Given the description of an element on the screen output the (x, y) to click on. 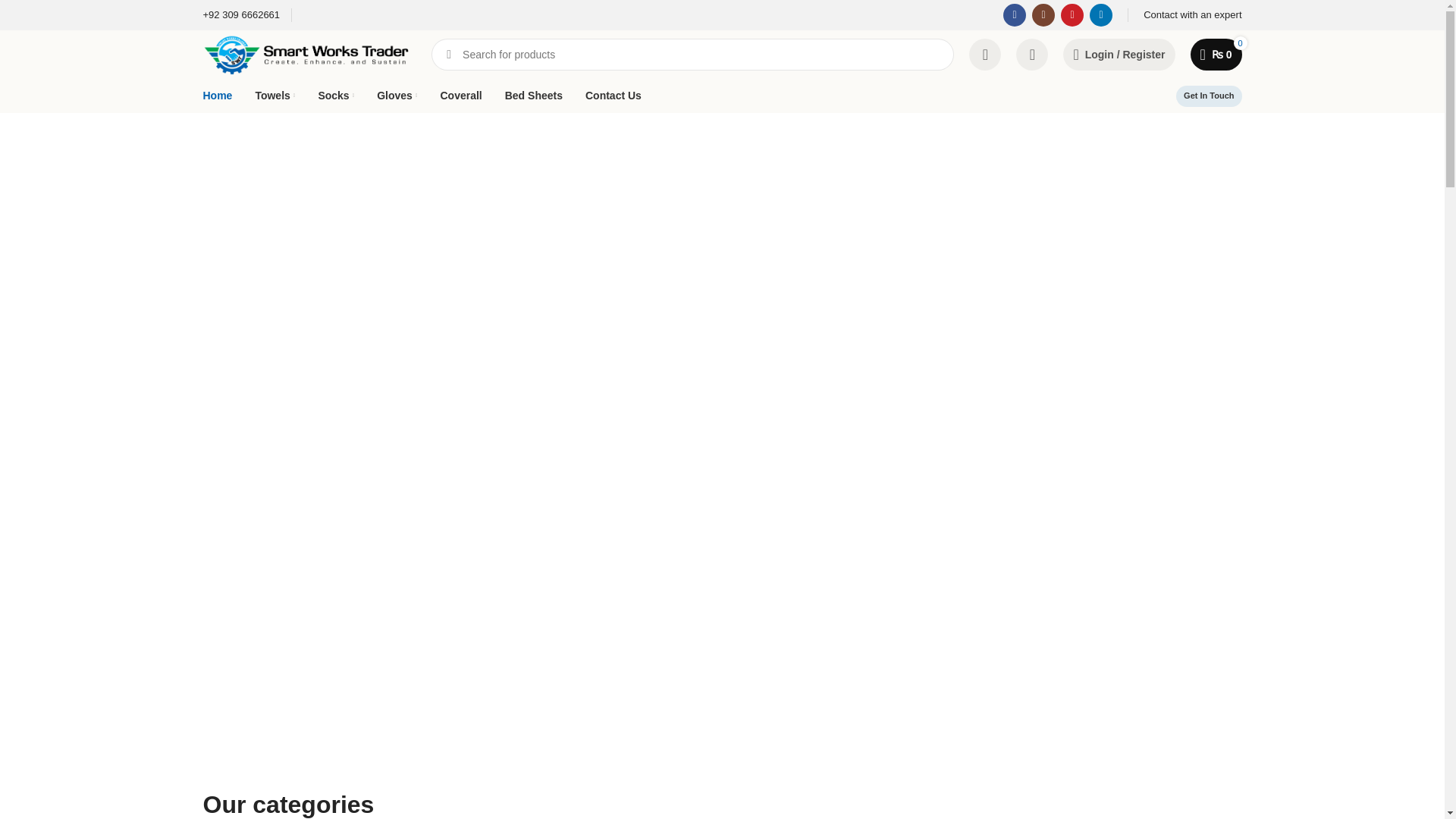
Shopping cart (1217, 54)
Home (217, 95)
Towels (274, 95)
Socks (335, 95)
My account (1122, 54)
My Wishlist (1035, 54)
Contact Us (613, 95)
Search (447, 54)
Search for products (694, 54)
Gloves (396, 95)
Get In Touch (1208, 95)
Bed Sheets (533, 95)
Compare products (988, 54)
Coverall (460, 95)
